Given the description of an element on the screen output the (x, y) to click on. 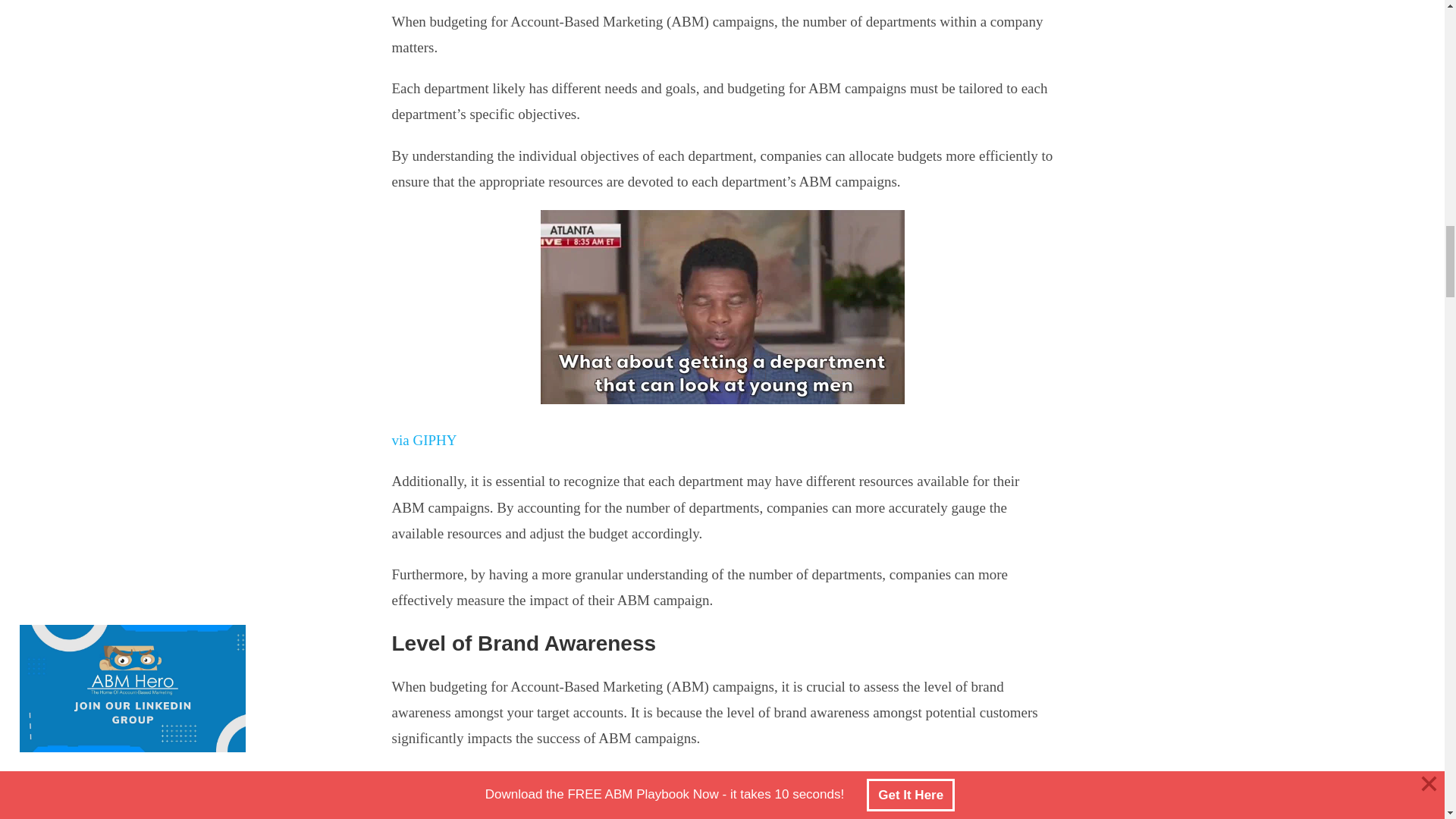
via GIPHY (424, 439)
